Given the description of an element on the screen output the (x, y) to click on. 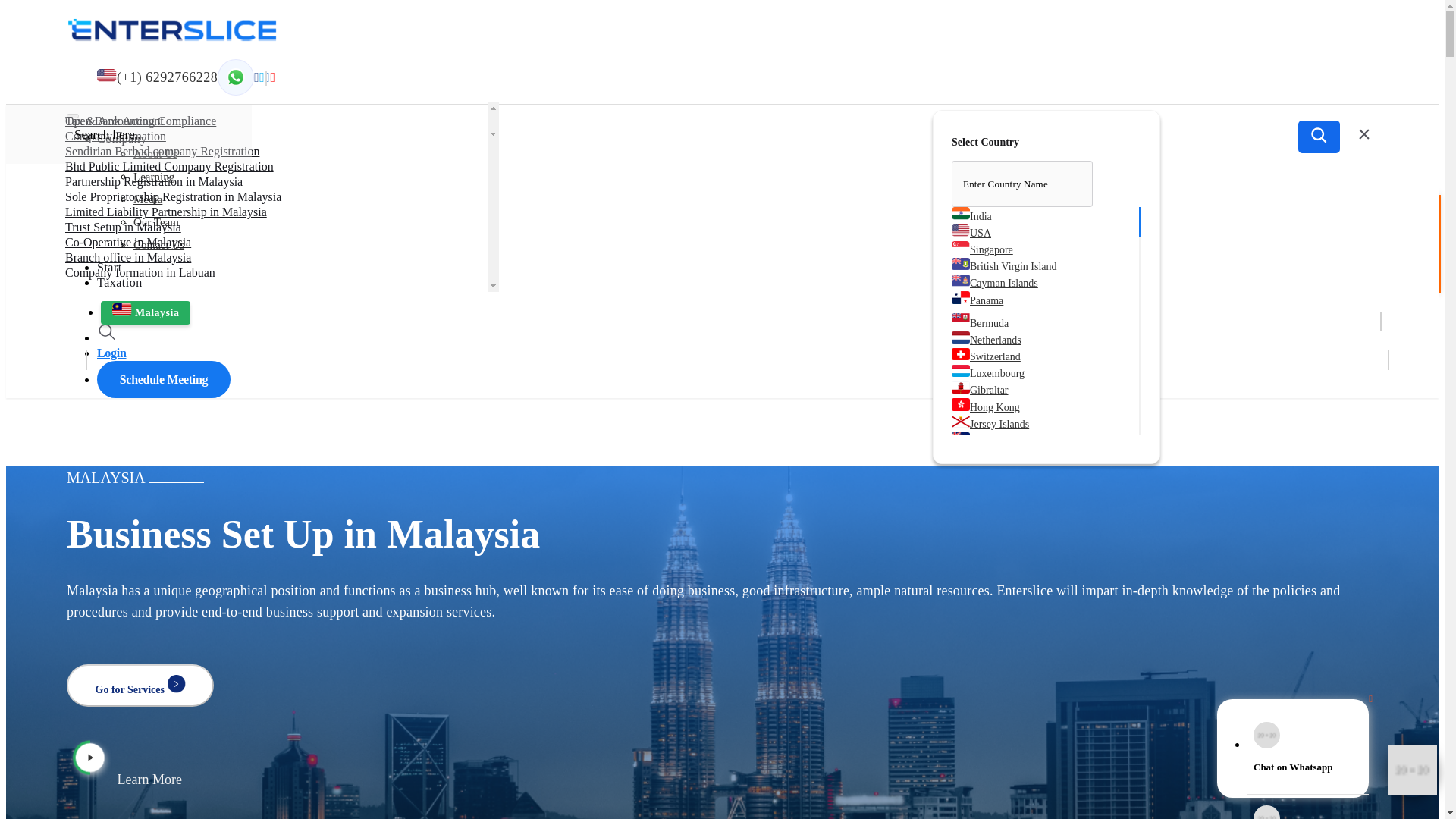
Bhd Public Limited Company Registration (169, 165)
Limited Liability Partnership in Malaysia (165, 211)
Co-Operative in Malaysia (127, 241)
Partnership Registration in Malaysia (154, 181)
USA (971, 230)
Start (109, 267)
About Us (155, 151)
Taxation (119, 282)
Singapore (982, 246)
Company Formation (115, 135)
Panama (977, 297)
Bermuda (980, 320)
Media (147, 197)
Sendirian Berhad company Registration (162, 151)
Our Team (156, 220)
